Given the description of an element on the screen output the (x, y) to click on. 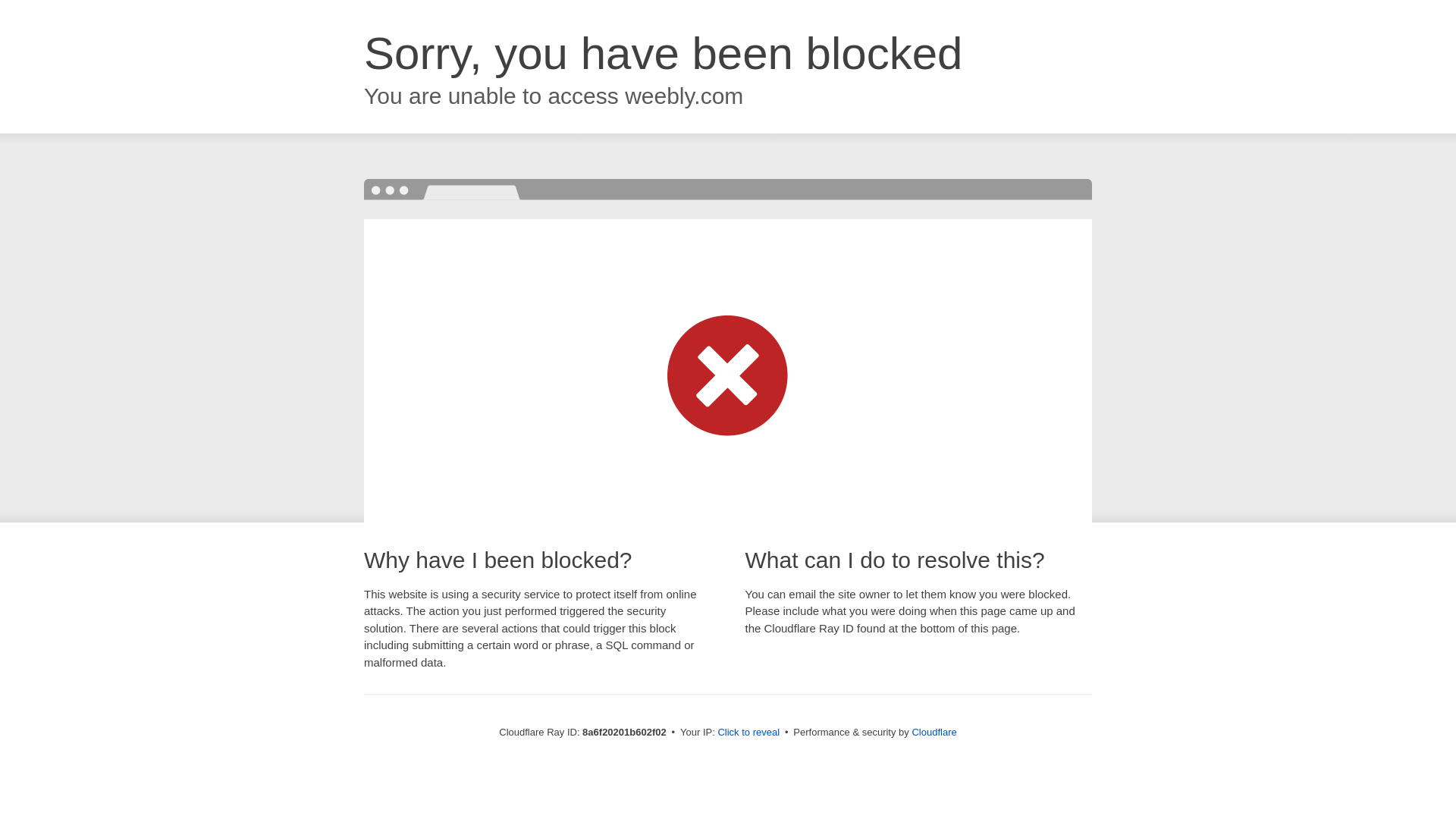
Click to reveal (747, 732)
Cloudflare (933, 731)
